Given the description of an element on the screen output the (x, y) to click on. 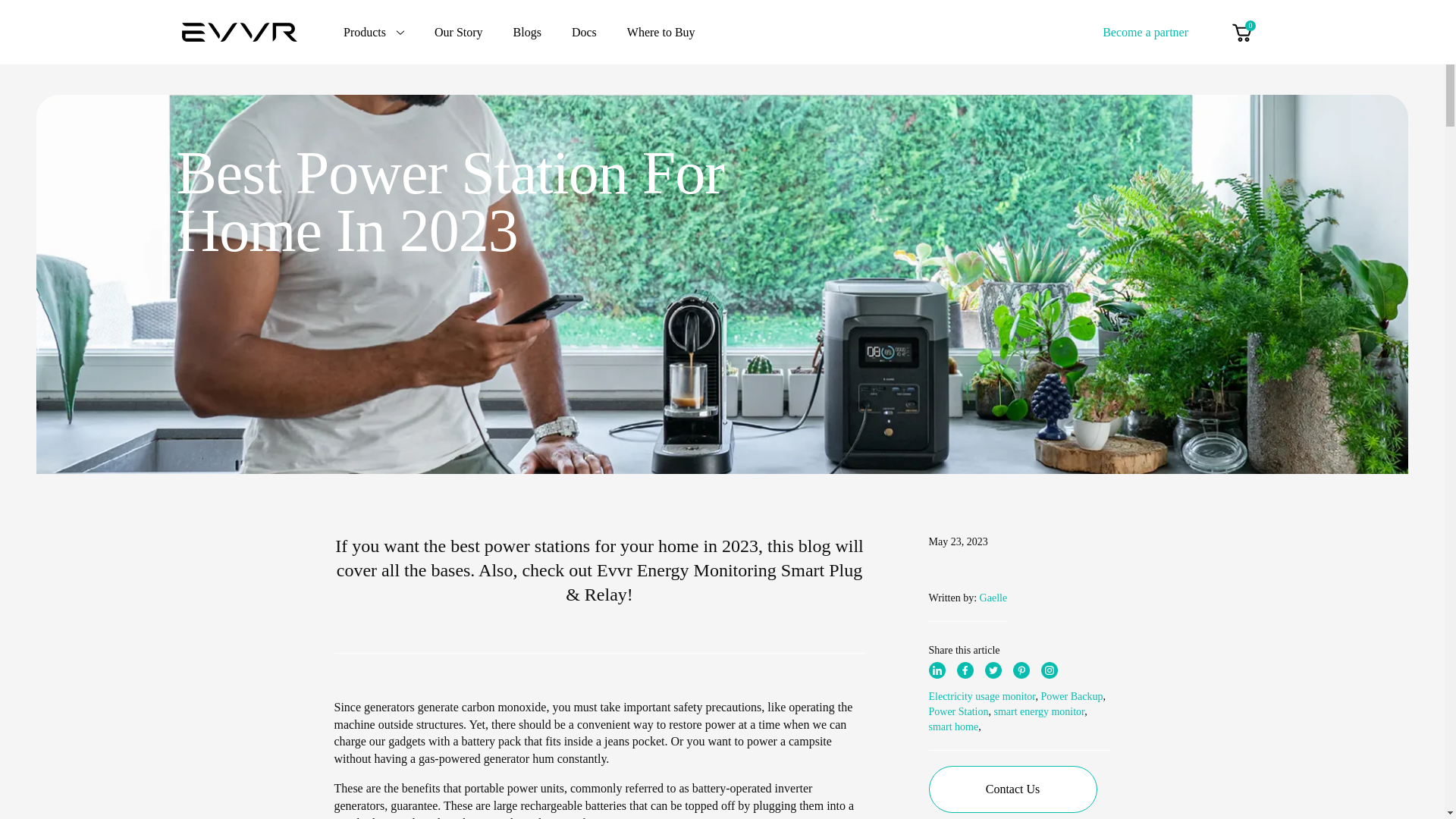
Where to Buy (661, 31)
Docs (584, 31)
Blogs (527, 31)
Become a partner (1144, 31)
Products (373, 31)
0 (1240, 31)
Our Story (458, 31)
